Given the description of an element on the screen output the (x, y) to click on. 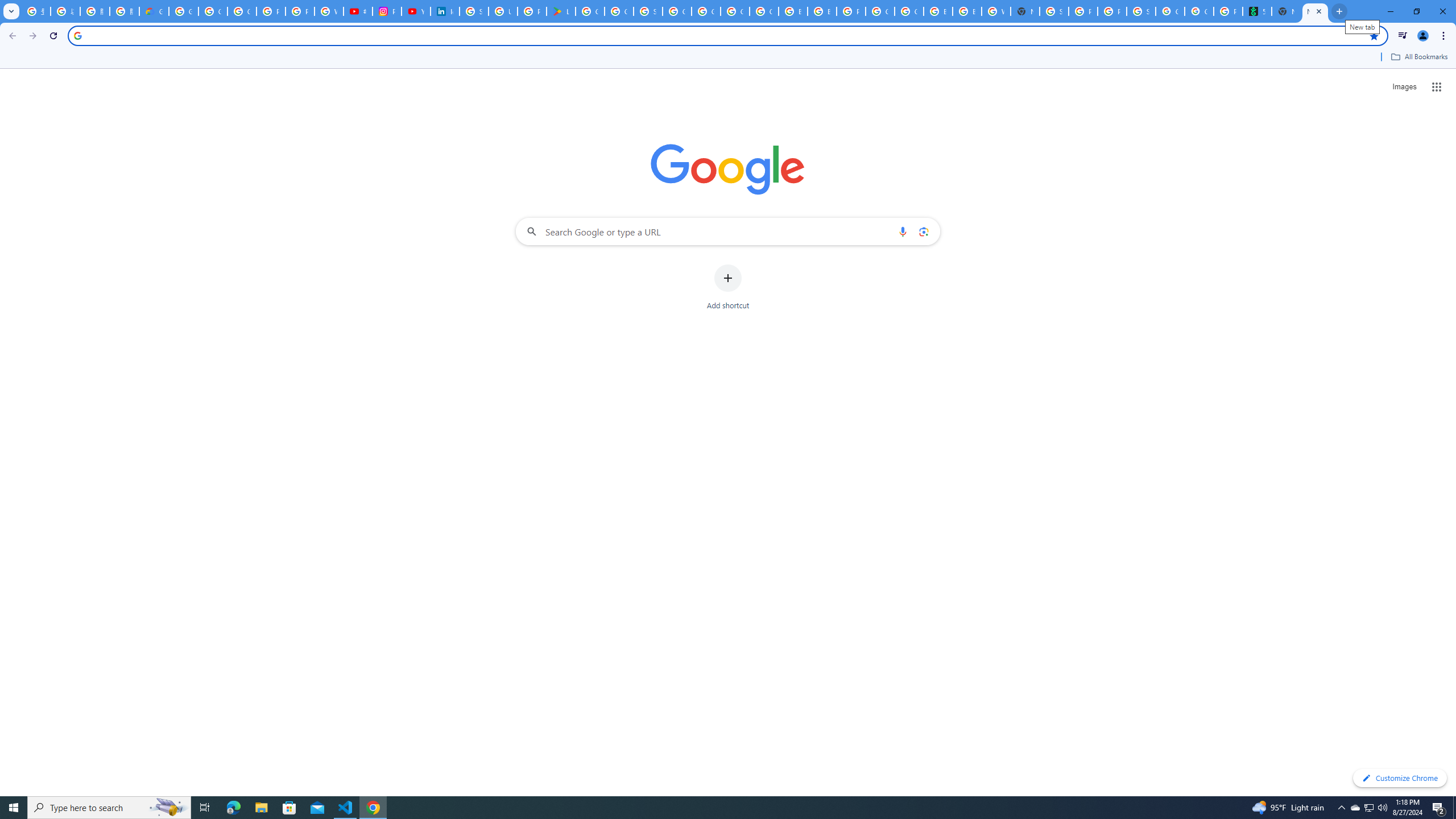
Browse Chrome as a guest - Computer - Google Chrome Help (792, 11)
New Tab (1315, 11)
#nbabasketballhighlights - YouTube (357, 11)
Privacy Help Center - Policies Help (271, 11)
